Given the description of an element on the screen output the (x, y) to click on. 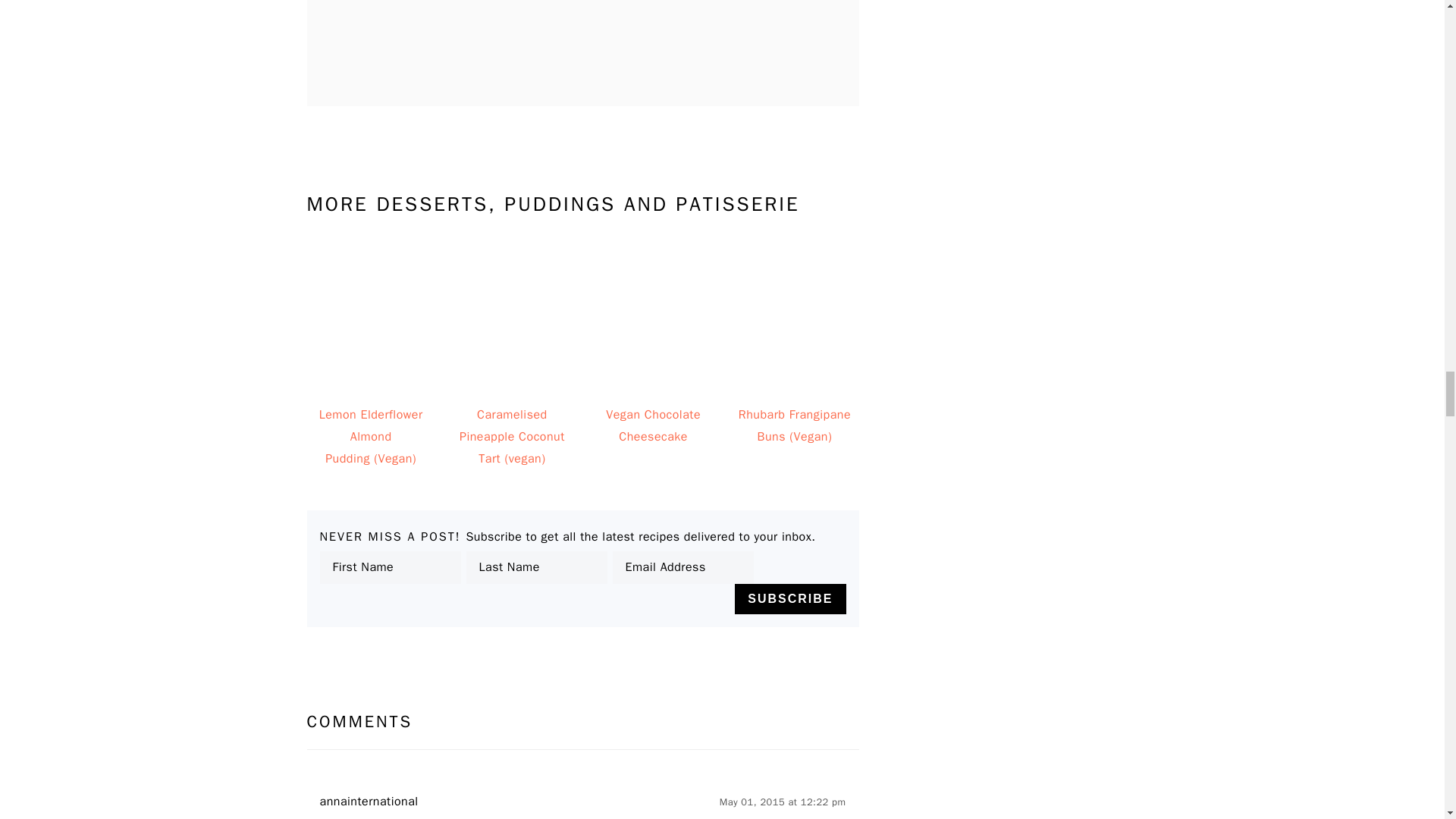
Subscribe (790, 598)
